Given the description of an element on the screen output the (x, y) to click on. 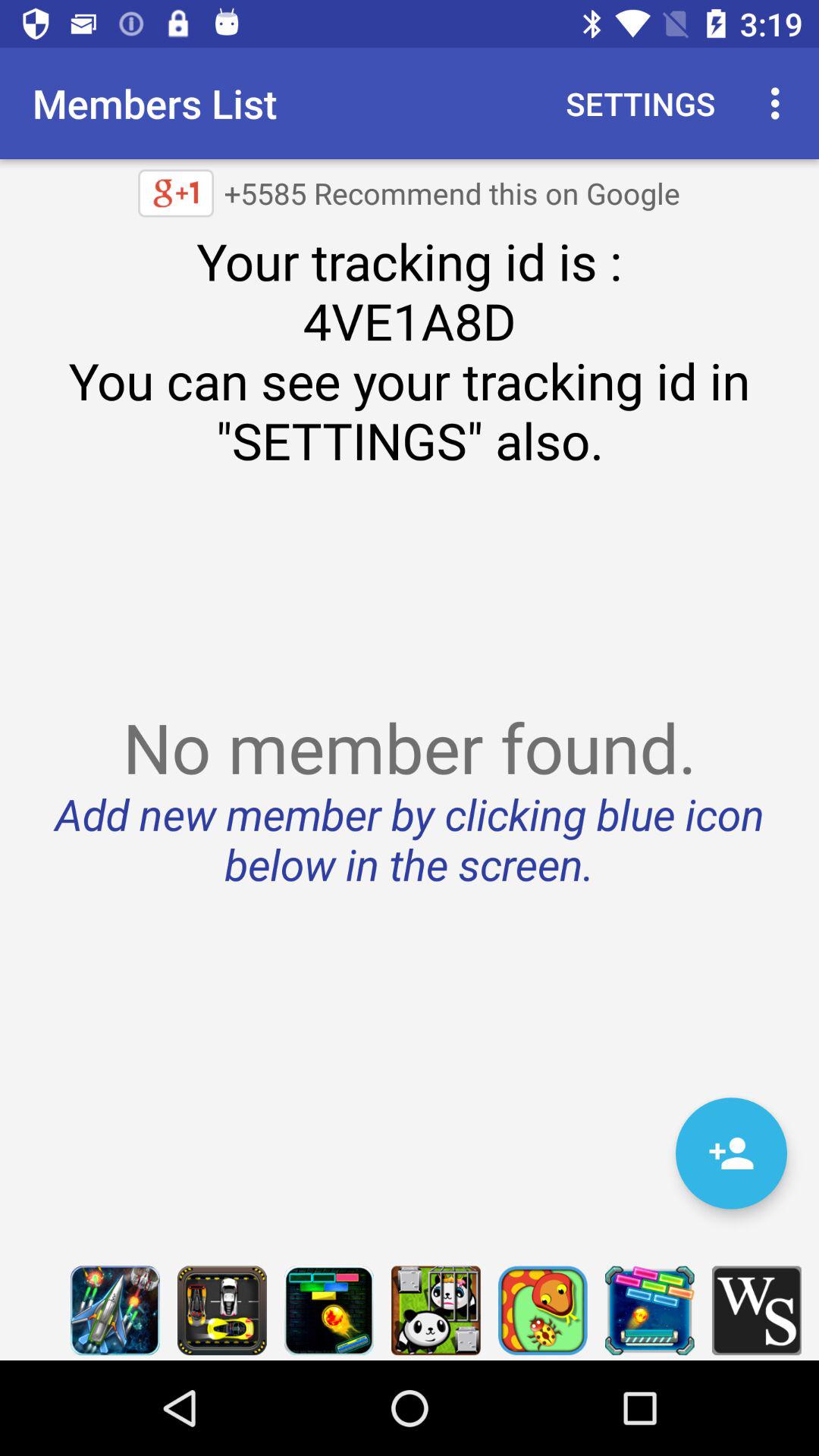
choose item above your tracking id (779, 103)
